Given the description of an element on the screen output the (x, y) to click on. 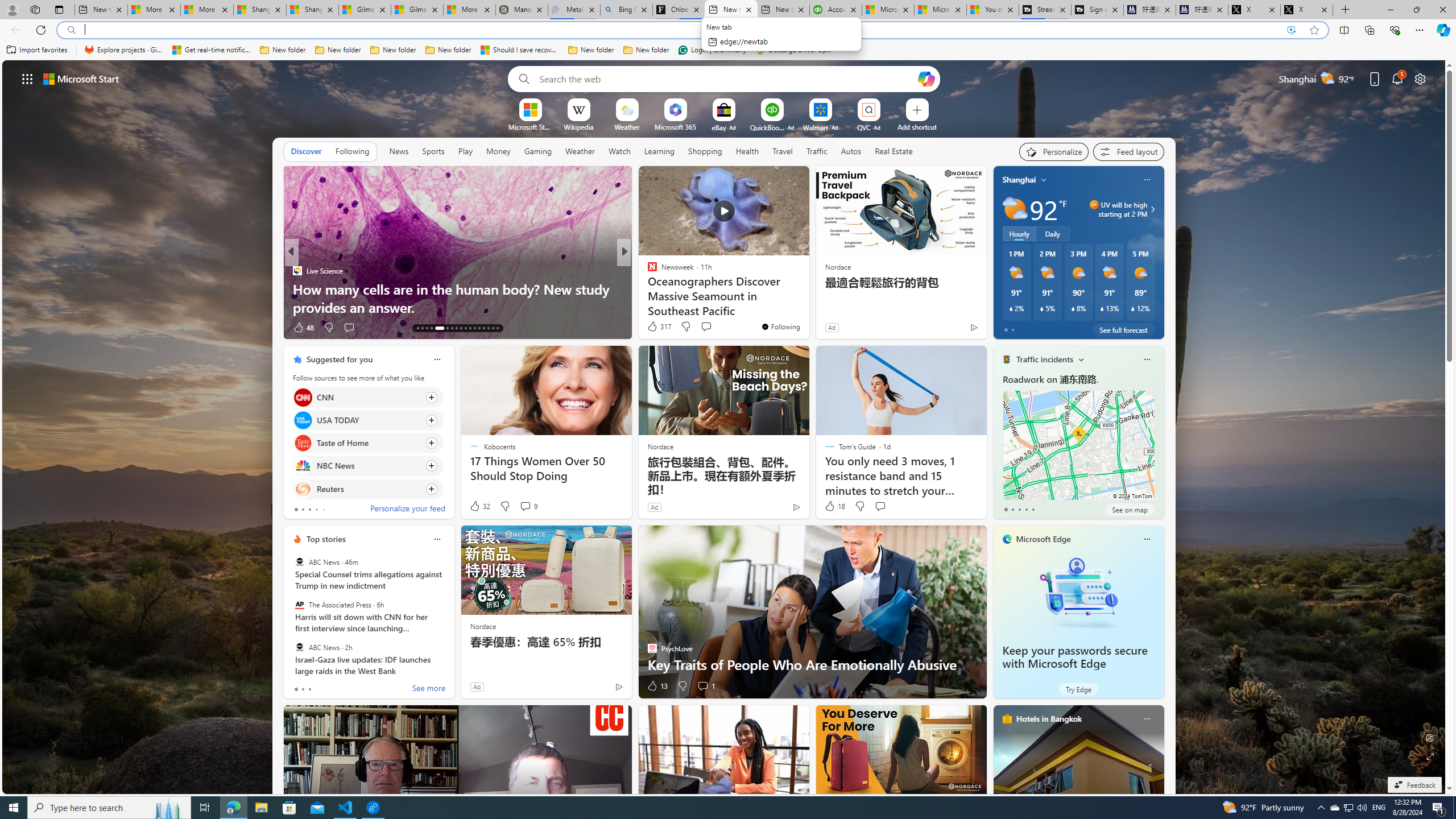
AutomationID: tab-17 (439, 328)
Shopping (705, 151)
AutomationID: tab-21 (460, 328)
Real Estate (893, 151)
People who are unapologetically authentic do these 15 things (807, 298)
Change scenarios (1080, 359)
Personalize your feed" (1054, 151)
Click to follow source NBC News (367, 465)
955 Like (654, 327)
